Given the description of an element on the screen output the (x, y) to click on. 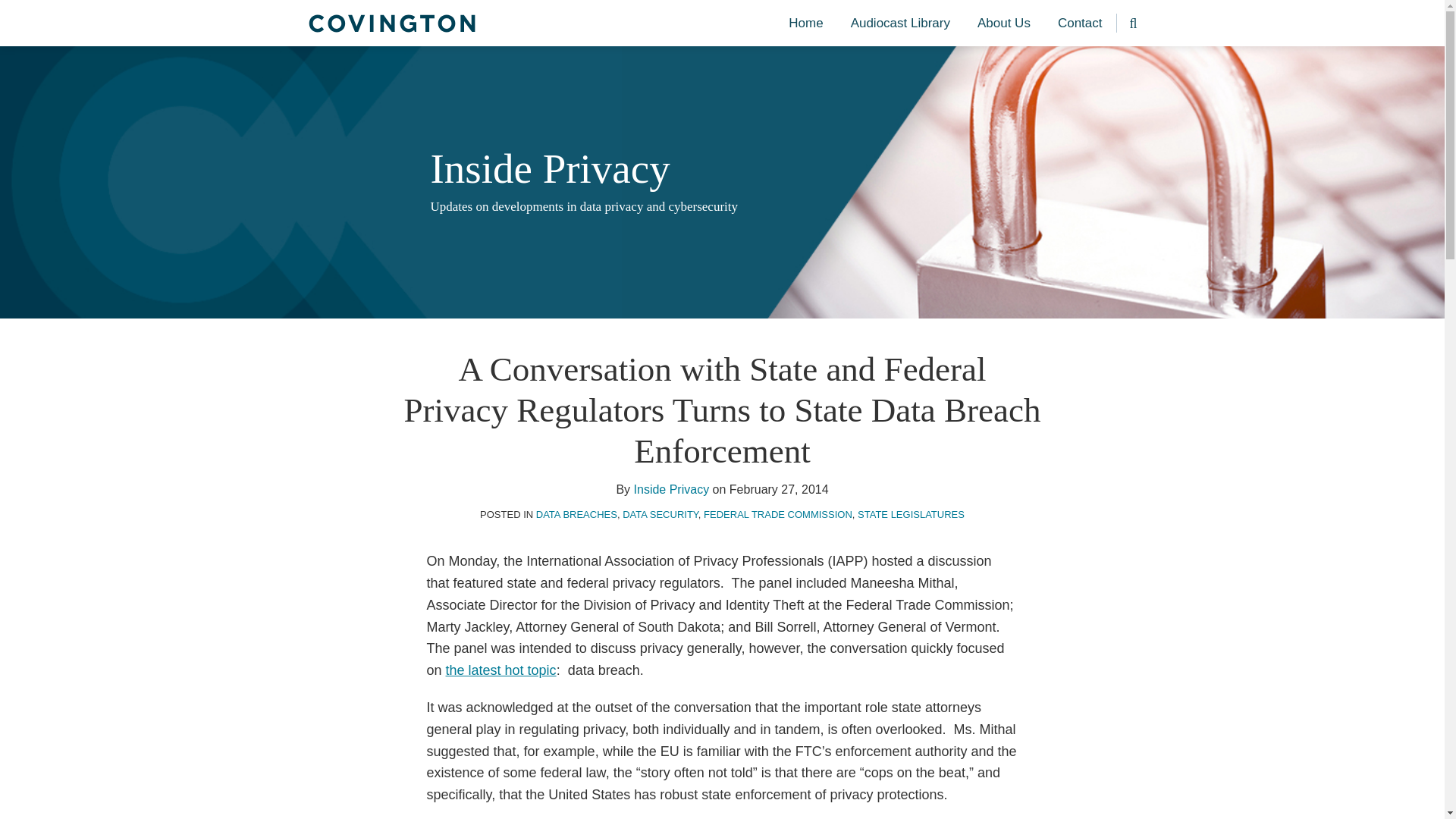
STATE LEGISLATURES (910, 514)
DATA SECURITY (660, 514)
the latest hot topic (500, 670)
About Us (1003, 23)
Inside Privacy (671, 489)
DATA BREACHES (576, 514)
Audiocast Library (900, 23)
FEDERAL TRADE COMMISSION (777, 514)
Home (805, 23)
Contact (1080, 23)
